Given the description of an element on the screen output the (x, y) to click on. 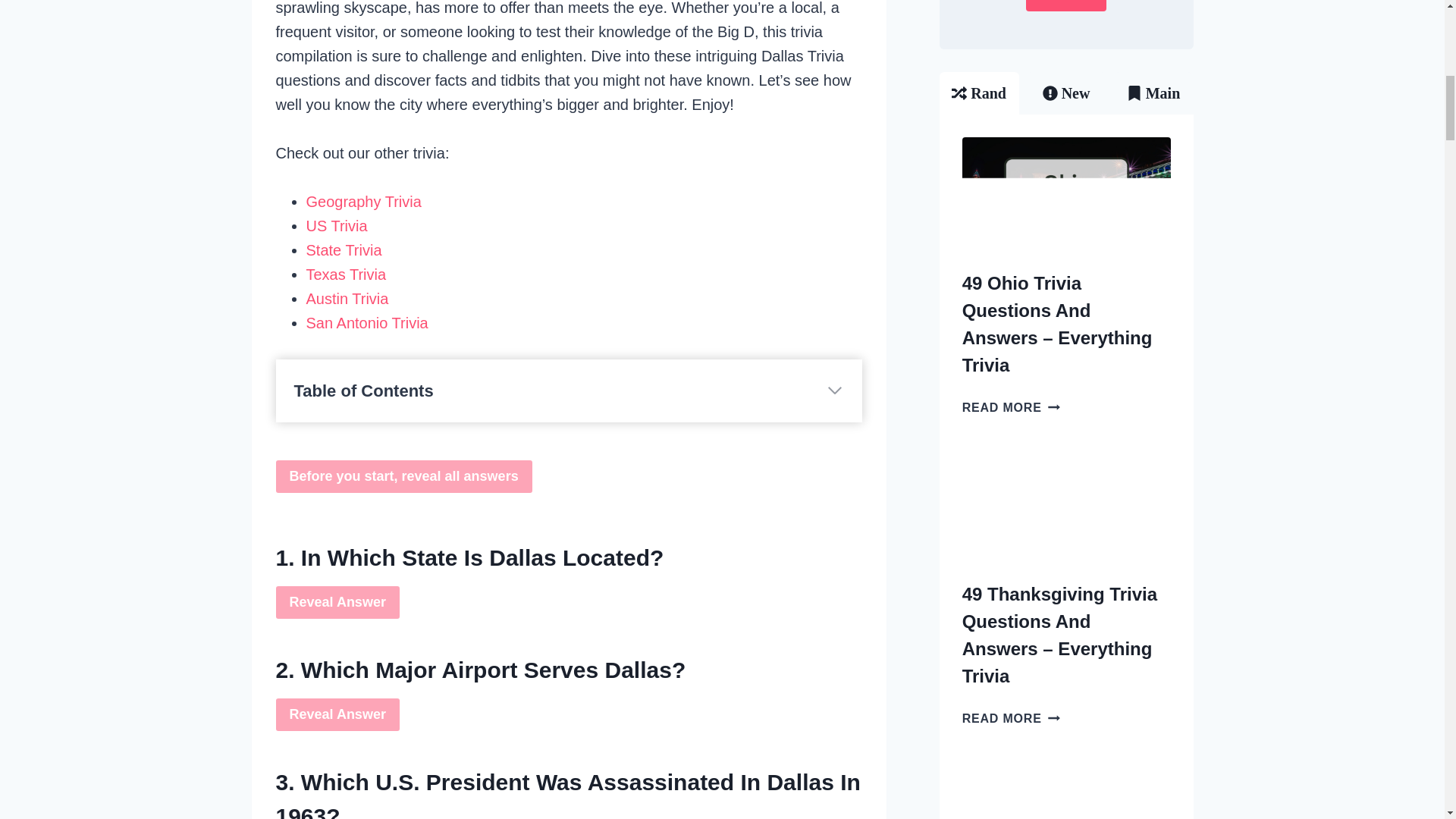
Texas Trivia (346, 274)
US Trivia (336, 225)
Austin Trivia (346, 298)
State Trivia (343, 249)
Geography Trivia (363, 201)
San Antonio Trivia (366, 322)
